Given the description of an element on the screen output the (x, y) to click on. 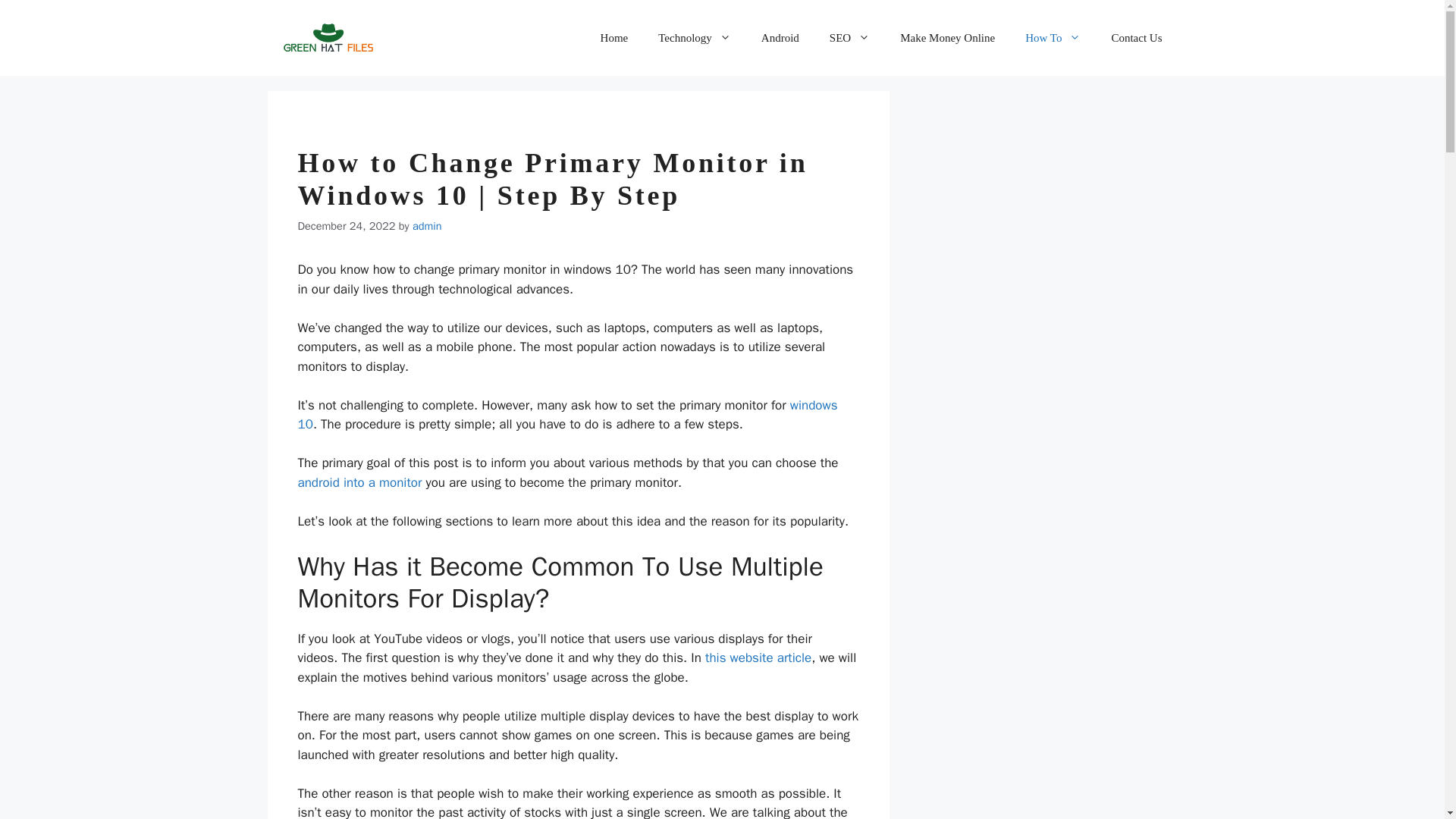
Home (614, 37)
Technology (694, 37)
View all posts by admin (427, 225)
